Given the description of an element on the screen output the (x, y) to click on. 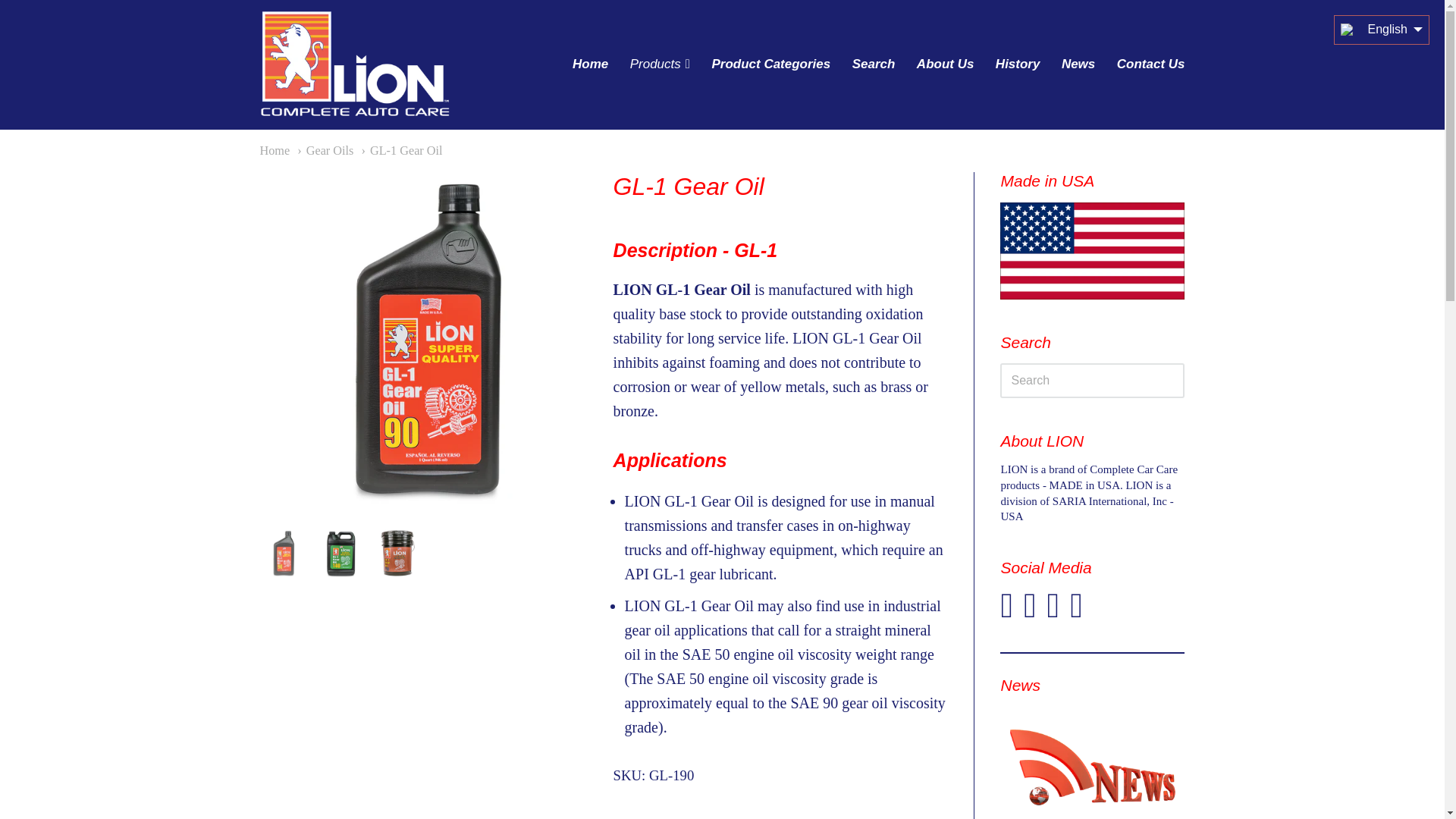
Product Categories (770, 64)
GL-1 Gear Oil (398, 553)
About Us (945, 64)
        Made in USA (1092, 762)
Home (590, 64)
Contact Us (1150, 64)
GL-1 Gear Oil (425, 338)
News (1077, 64)
Saria International (353, 64)
History (1018, 64)
GL-1 Gear Oil (401, 151)
GL-1 Gear Oil (341, 553)
Gear Oils (325, 151)
Home (274, 151)
GL-1 Gear Oil (283, 553)
